Given the description of an element on the screen output the (x, y) to click on. 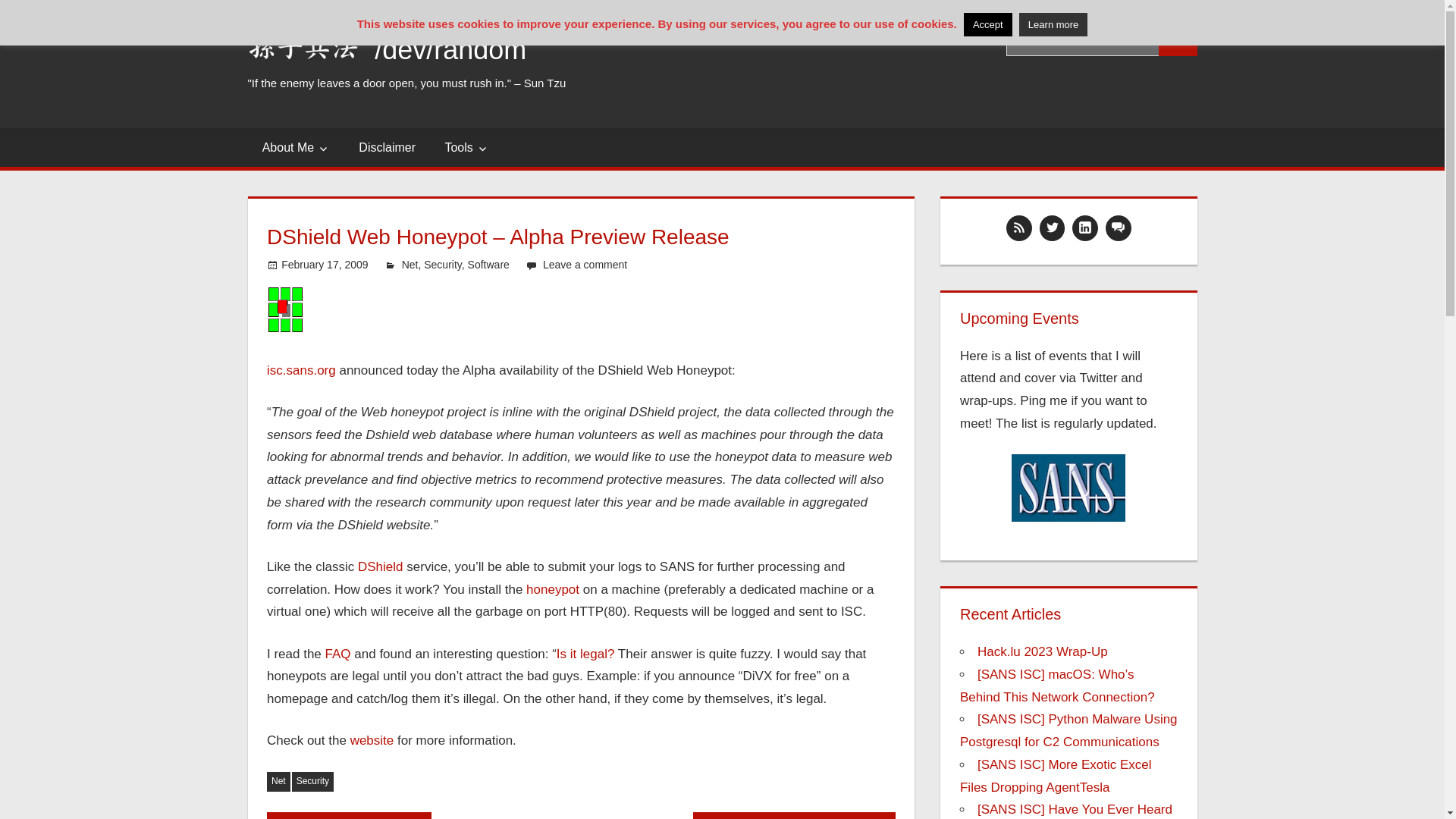
SANS ISC (284, 309)
FAQ (337, 653)
Leave a comment (585, 264)
honeypot (552, 589)
Twitter (1051, 227)
Software (488, 264)
Linkedin alt (1085, 227)
Security (442, 264)
Net (410, 264)
Disclaimer (386, 147)
February 17, 2009 (324, 264)
About Me (295, 147)
22:26 (324, 264)
Tools (466, 147)
isc.sans.org (301, 370)
